Given the description of an element on the screen output the (x, y) to click on. 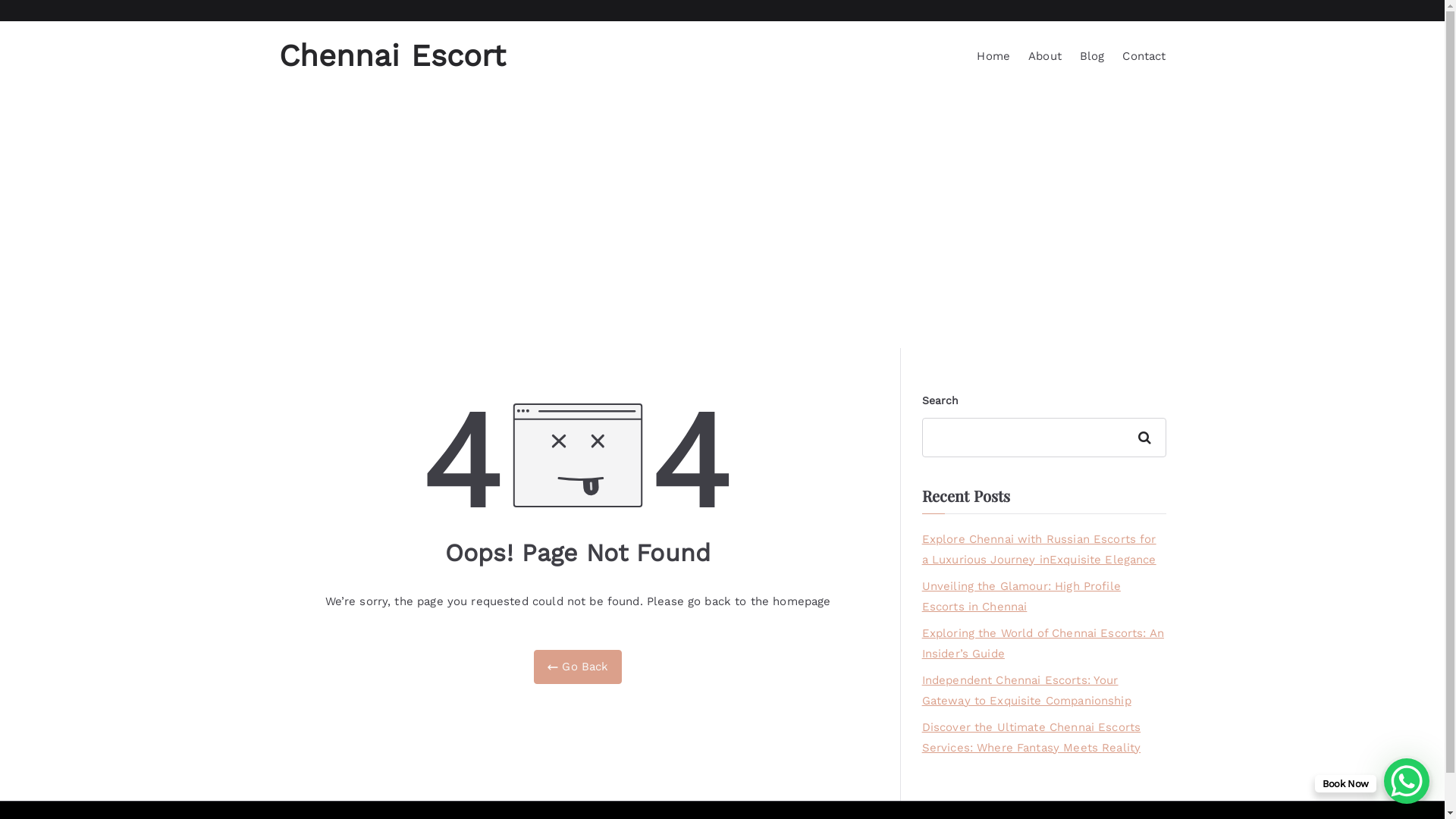
Home Element type: text (645, 270)
Contact Element type: text (1143, 55)
Chennai Escort Element type: text (392, 55)
Search Element type: text (1146, 437)
Home Element type: text (993, 55)
Blog Element type: text (1091, 55)
Unveiling the Glamour: High Profile Escorts in Chennai Element type: text (1044, 596)
About Element type: text (1044, 55)
Go Back Element type: text (577, 666)
